Given the description of an element on the screen output the (x, y) to click on. 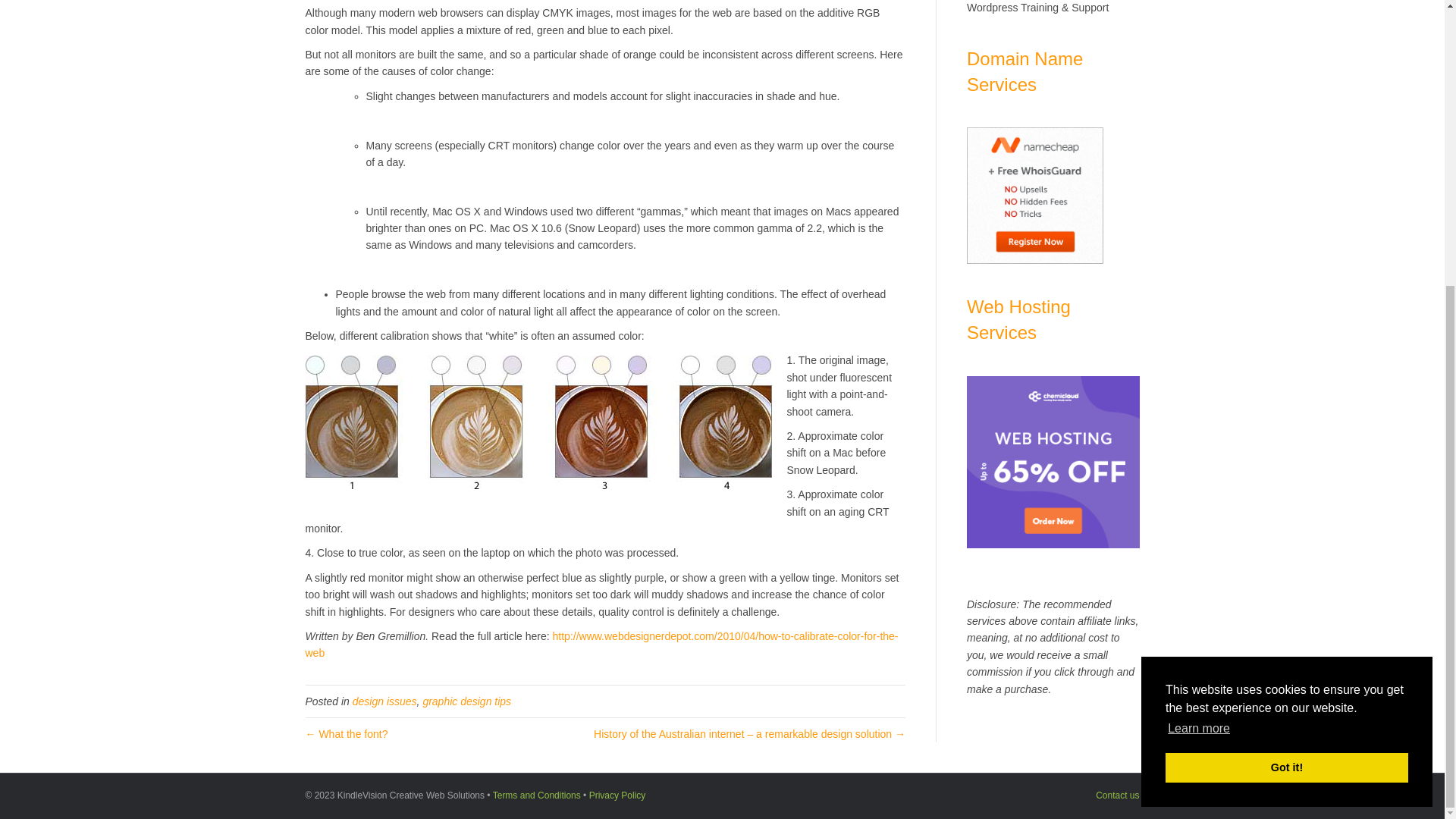
graphic design tips (466, 701)
Contact us (1117, 795)
real-white (537, 421)
Privacy Policy (617, 795)
design issues (384, 701)
Got it! (1286, 336)
ChemiCloud - Excellent Web Hosting Services (1053, 461)
Learn more (1198, 297)
Terms and Conditions (536, 795)
